Given the description of an element on the screen output the (x, y) to click on. 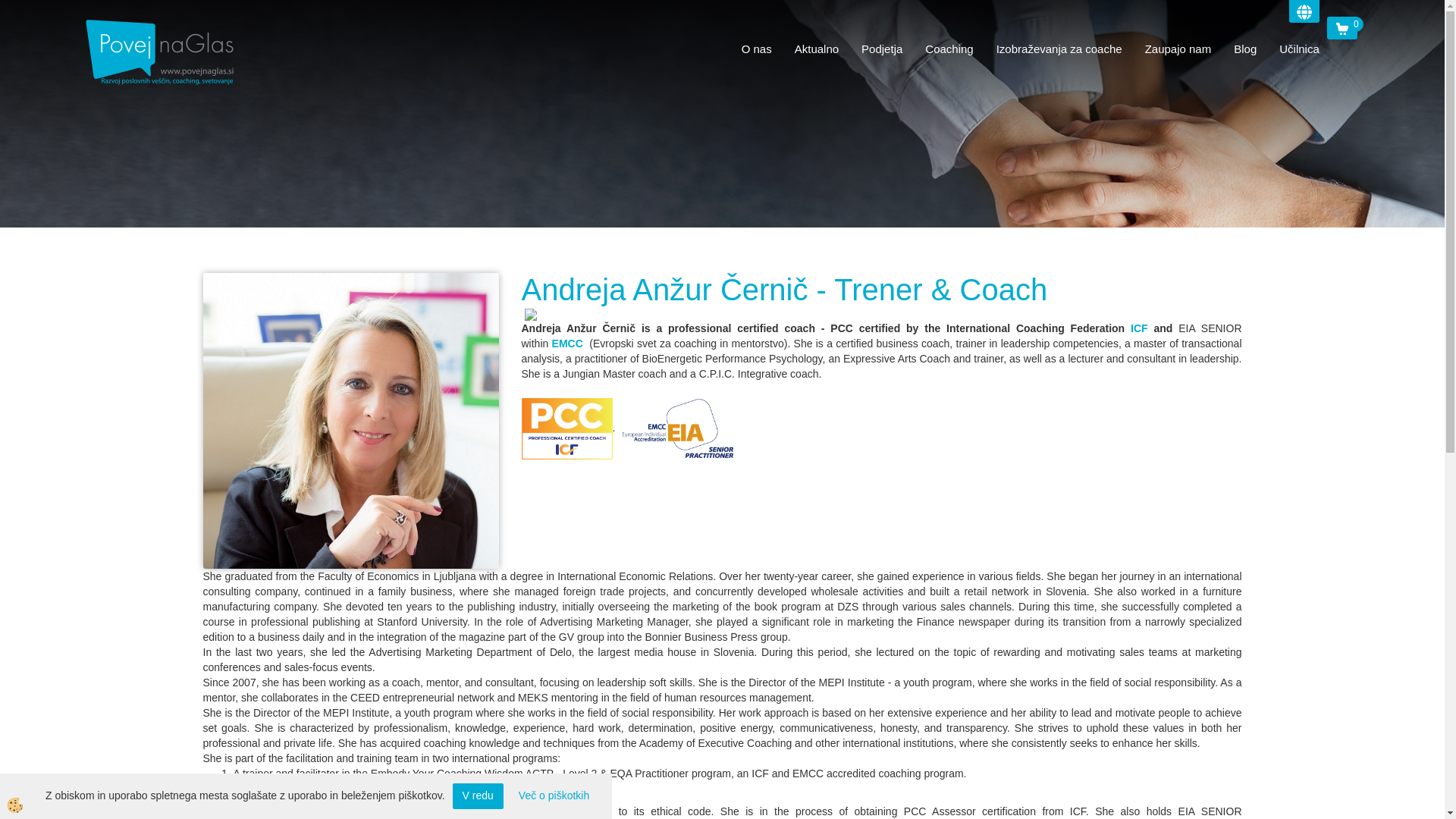
Element B2B (166, 52)
O nas (756, 48)
0 (1341, 27)
Podjetja (882, 48)
Aktualno (816, 48)
